Given the description of an element on the screen output the (x, y) to click on. 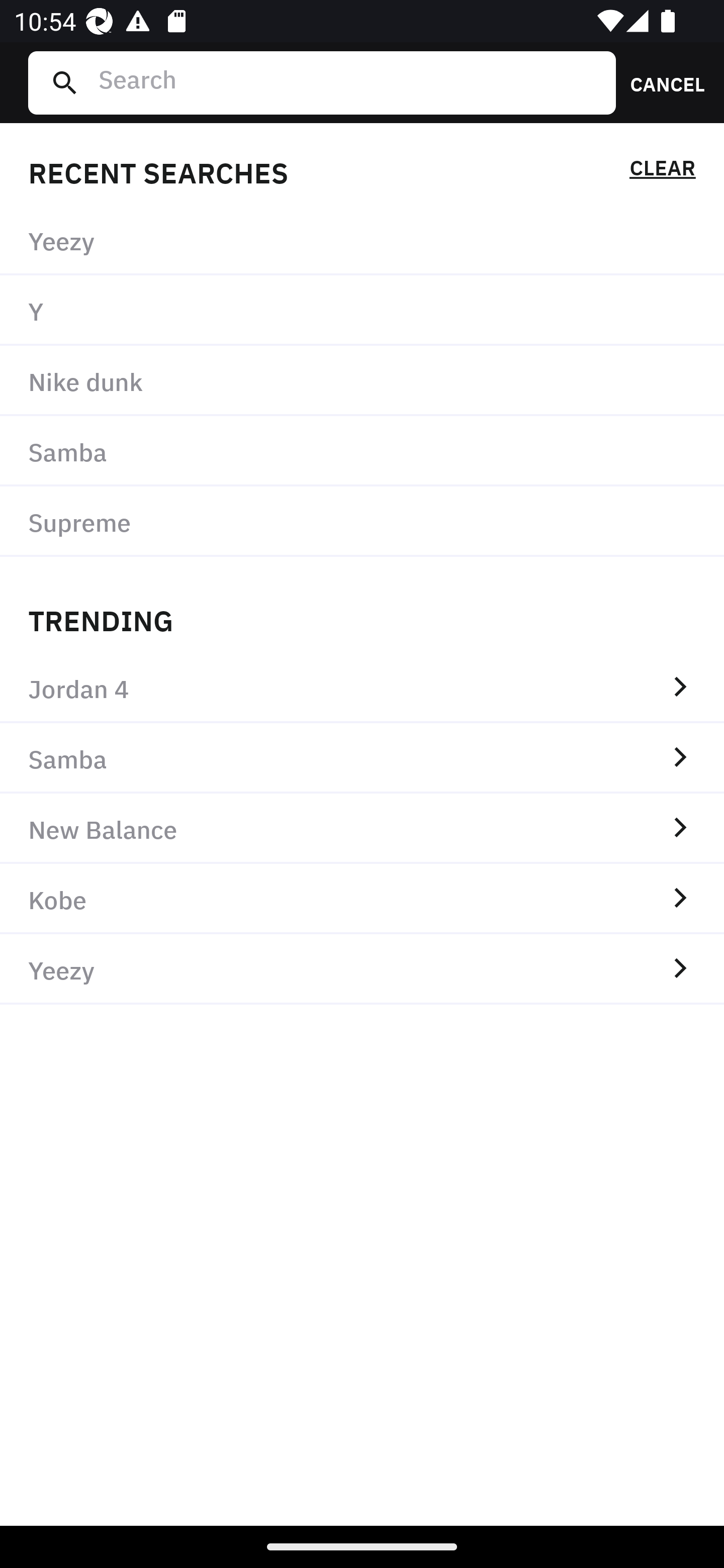
CANCEL (660, 82)
Search (349, 82)
CLEAR (662, 170)
Yeezy (362, 240)
Y (362, 310)
Nike dunk (362, 380)
Samba (362, 450)
Supreme (362, 521)
Jordan 4  (362, 687)
Samba  (362, 757)
New Balance  (362, 828)
Kobe  (362, 898)
Yeezy  (362, 969)
